Given the description of an element on the screen output the (x, y) to click on. 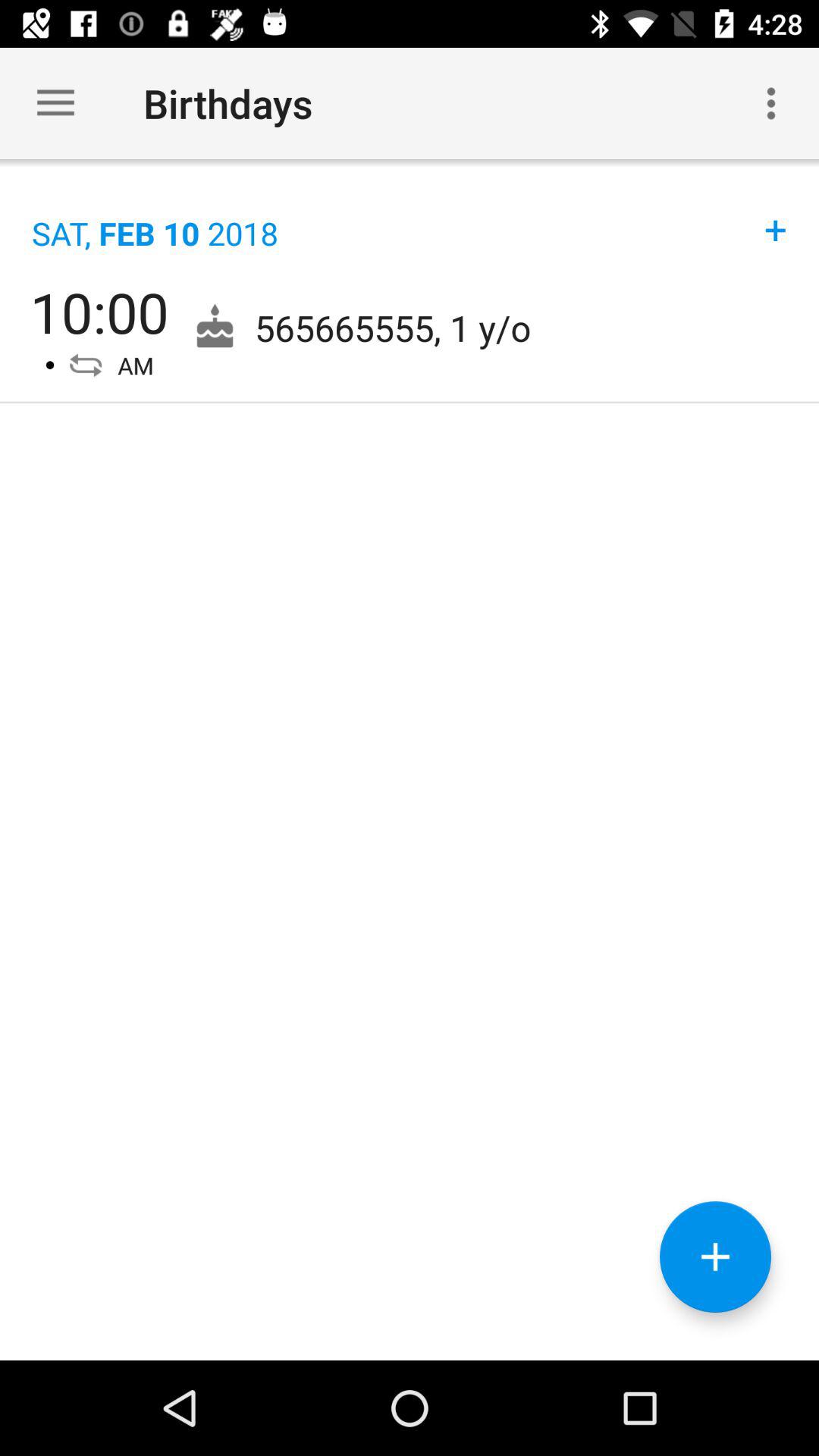
choose the icon next to the sat feb 10 (775, 214)
